Given the description of an element on the screen output the (x, y) to click on. 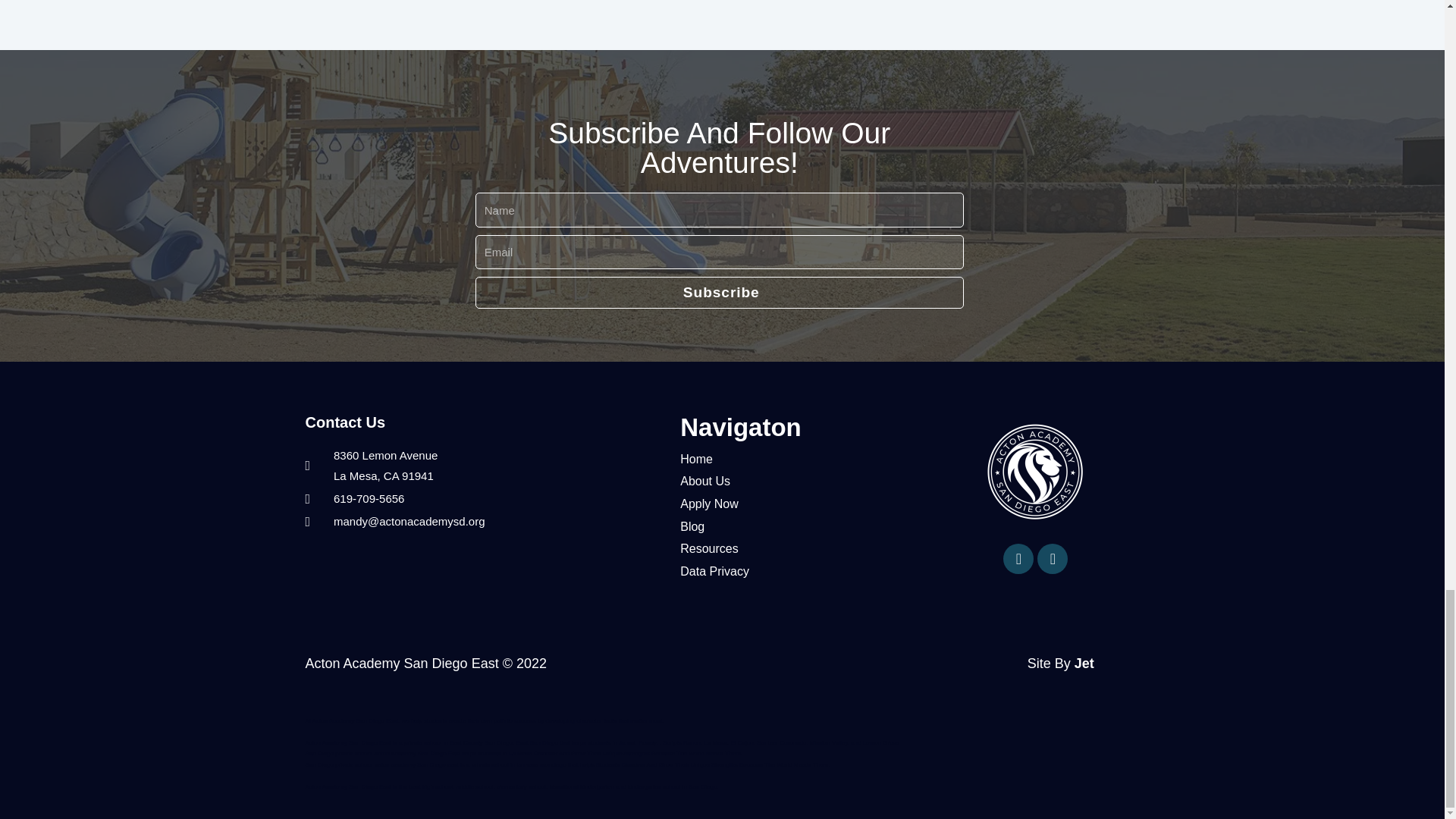
About Us (799, 481)
Resources (799, 548)
Subscribe (718, 291)
Blog (799, 526)
Jet (1084, 663)
Data Privacy (799, 571)
619-709-5656 (484, 498)
Home (799, 458)
Apply Now (799, 504)
